Given the description of an element on the screen output the (x, y) to click on. 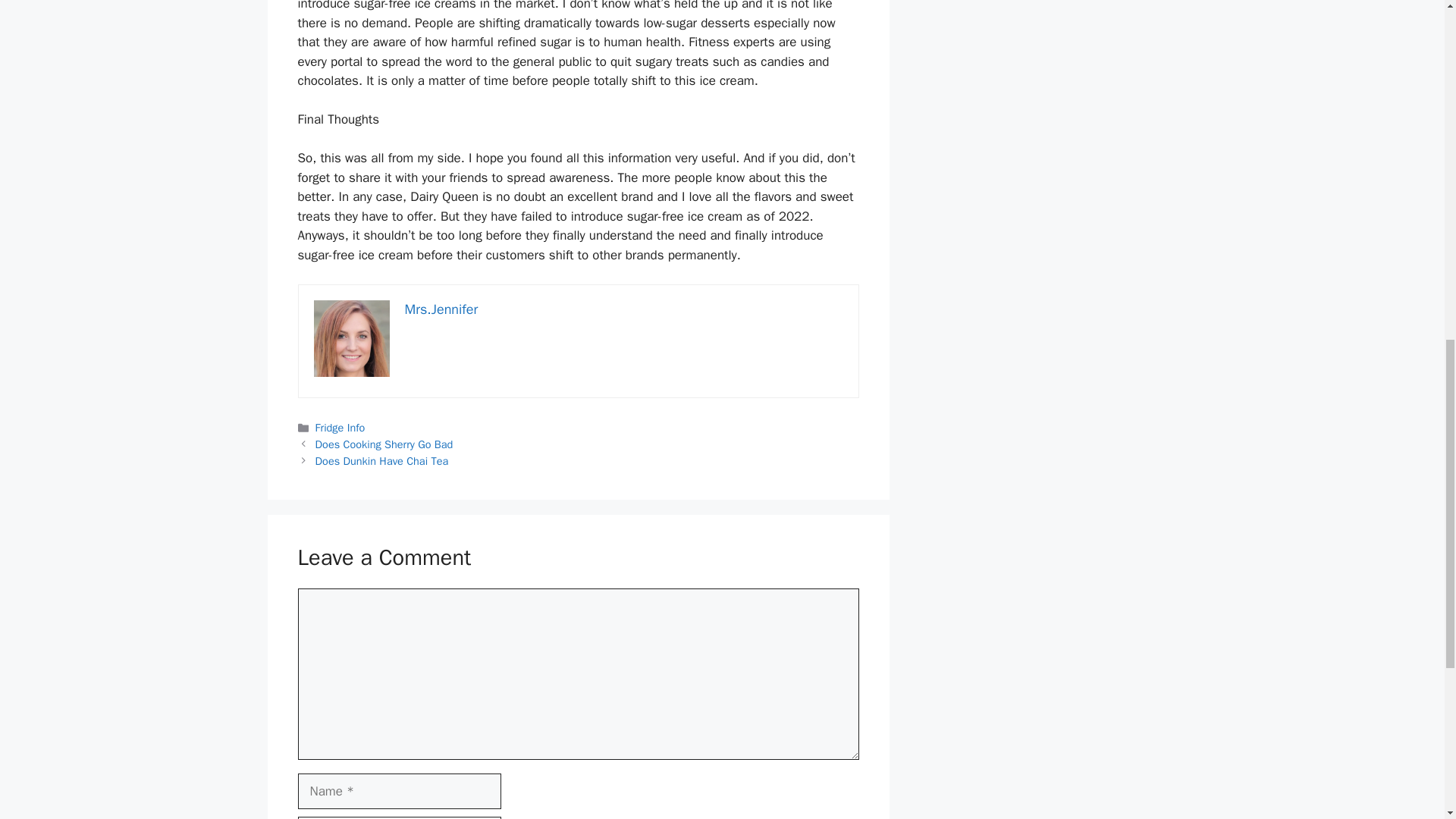
Fridge Info (340, 427)
Does Cooking Sherry Go Bad (383, 444)
Mrs.Jennifer (441, 309)
Does Dunkin Have Chai Tea (381, 460)
